Given the description of an element on the screen output the (x, y) to click on. 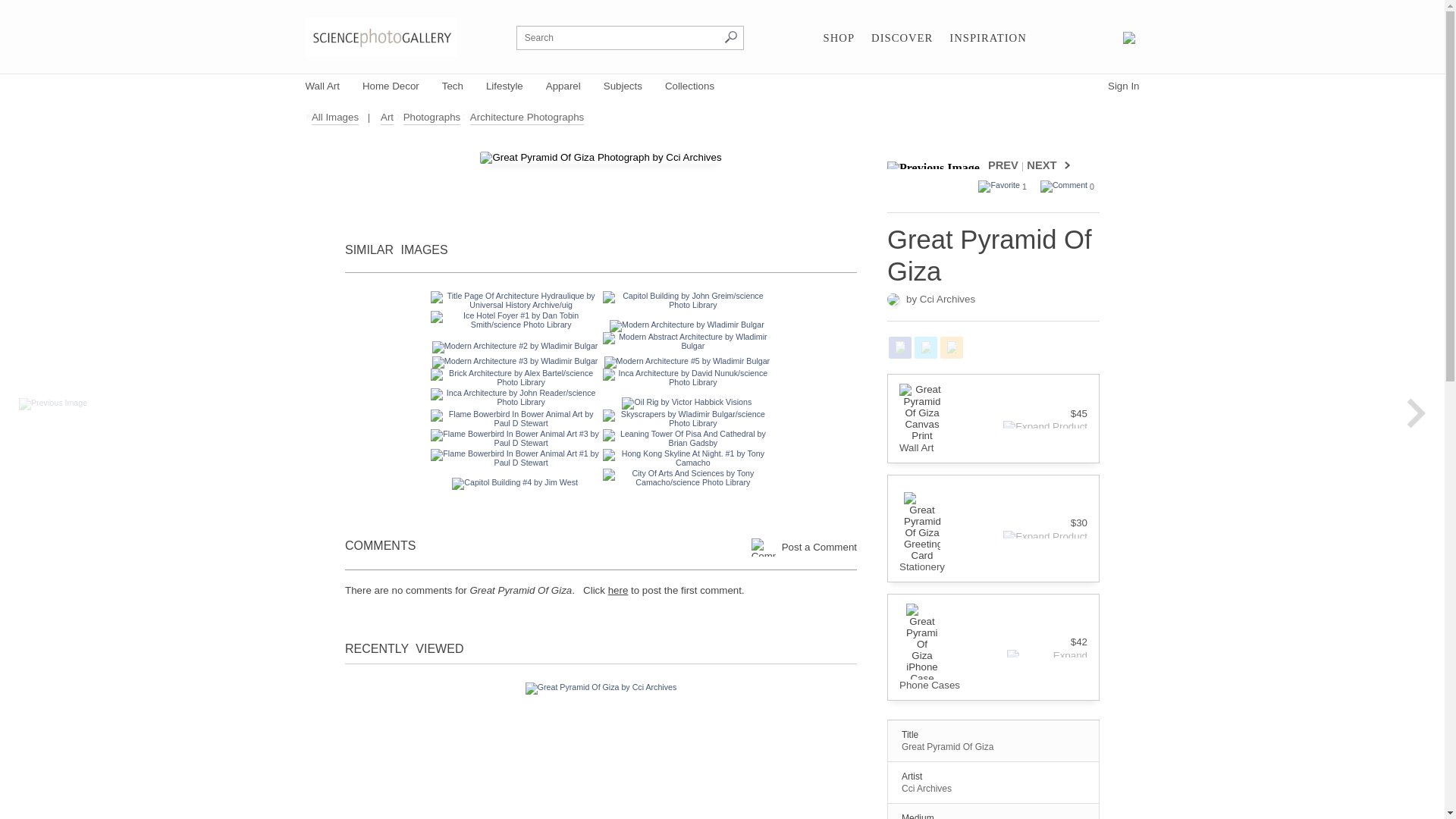
SHOP (838, 37)
INSPIRATION (987, 37)
Next Image (1063, 164)
Share Product on Facebook (899, 347)
Favorite (999, 186)
Share Product on Pinterest (951, 347)
Expand Product (1039, 424)
Comment (1064, 186)
Great Pyramid Of Giza Photograph by Cci Archives (600, 157)
Science Photo Gallery - Buy Art Online (380, 36)
Great Pyramid Of Giza Canvas Print (921, 412)
DISCOVER (901, 37)
Share Product on Twitter (925, 347)
Previous Image (935, 164)
